Given the description of an element on the screen output the (x, y) to click on. 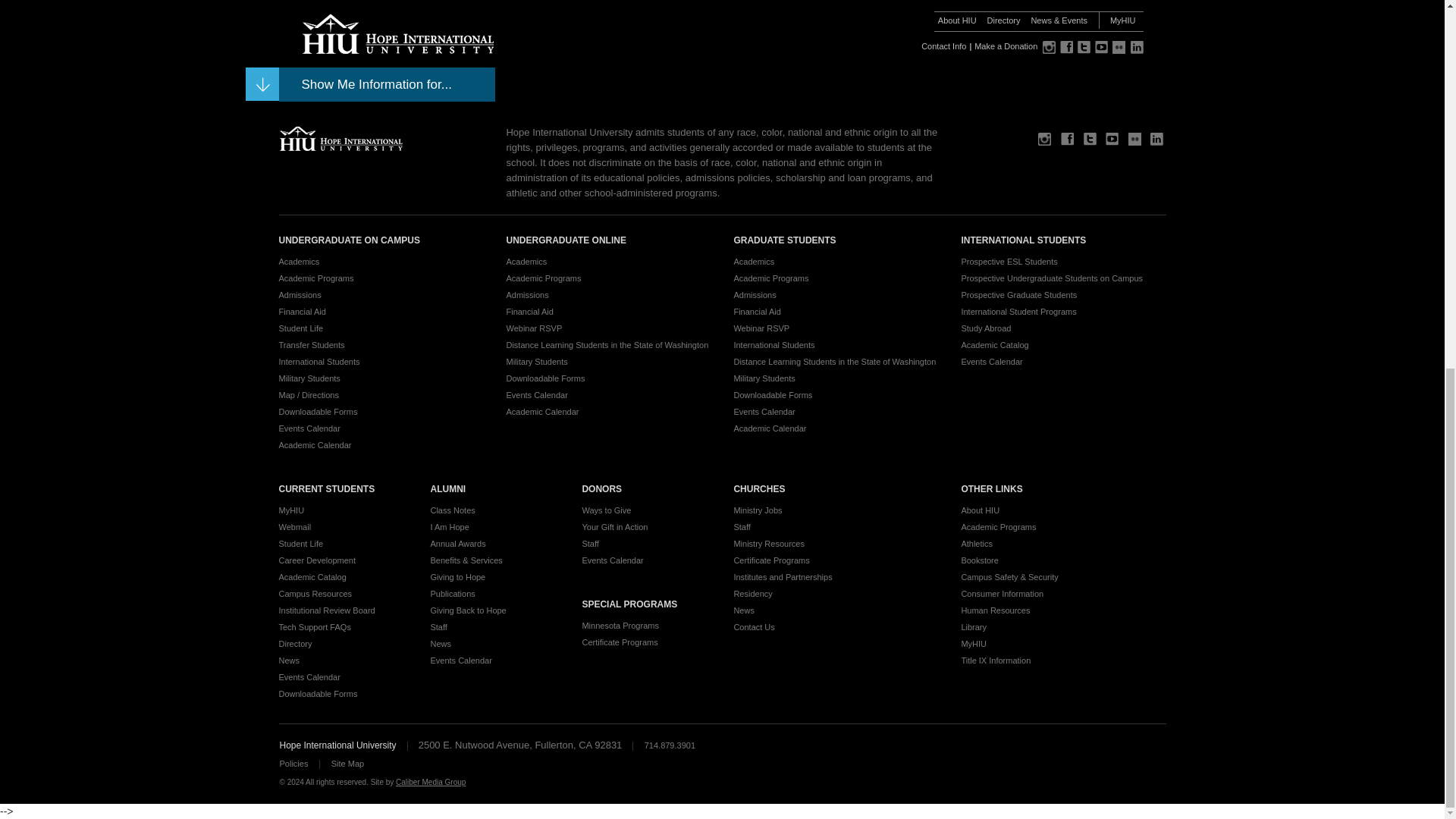
Site Map (347, 763)
Policies (293, 763)
Caliber Media Group (430, 782)
